Given the description of an element on the screen output the (x, y) to click on. 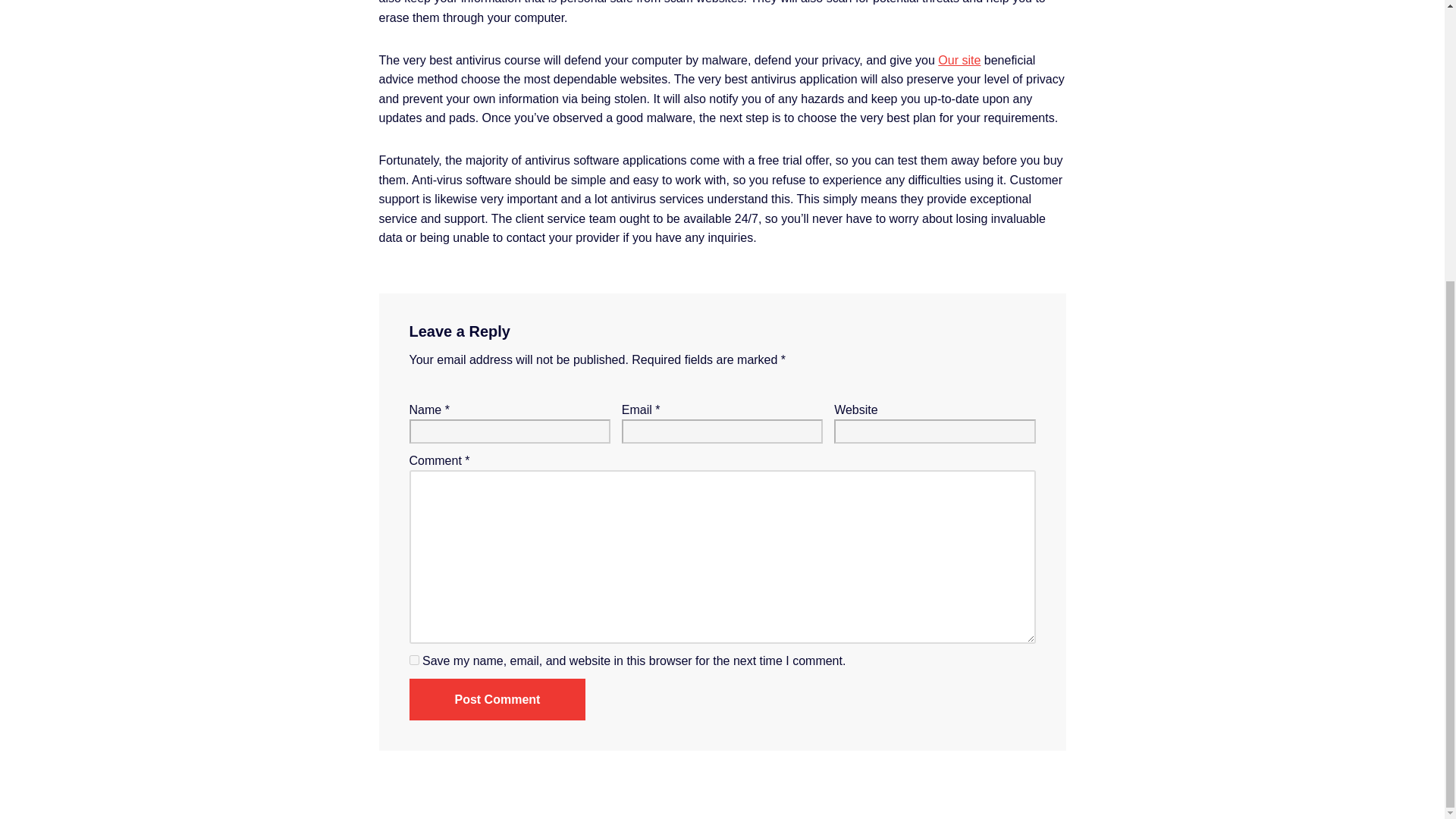
Our site (958, 60)
Post Comment (497, 699)
yes (414, 660)
Post Comment (497, 699)
